Given the description of an element on the screen output the (x, y) to click on. 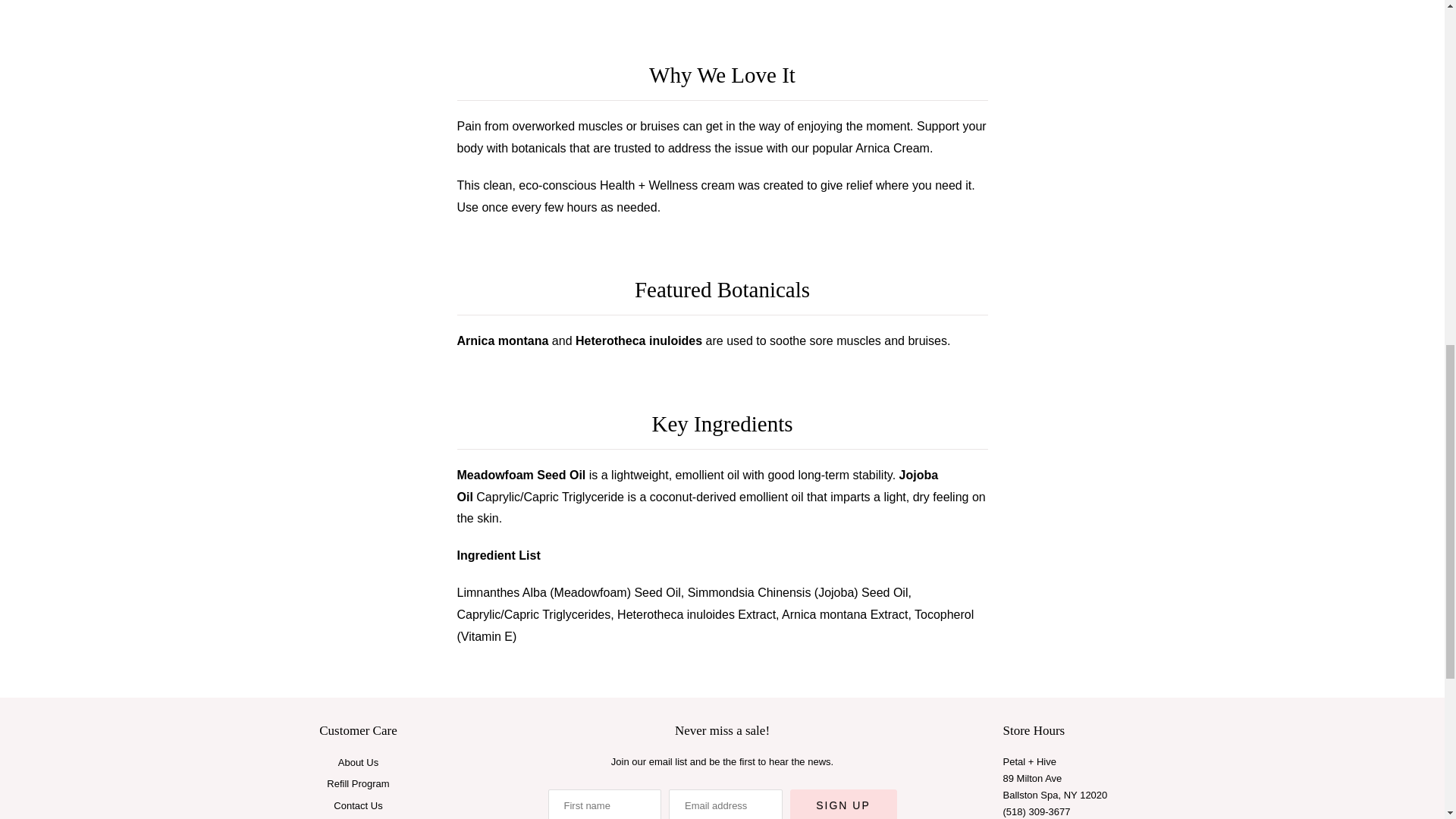
Sign Up (843, 804)
Arnica Oil Roller (552, 4)
